Given the description of an element on the screen output the (x, y) to click on. 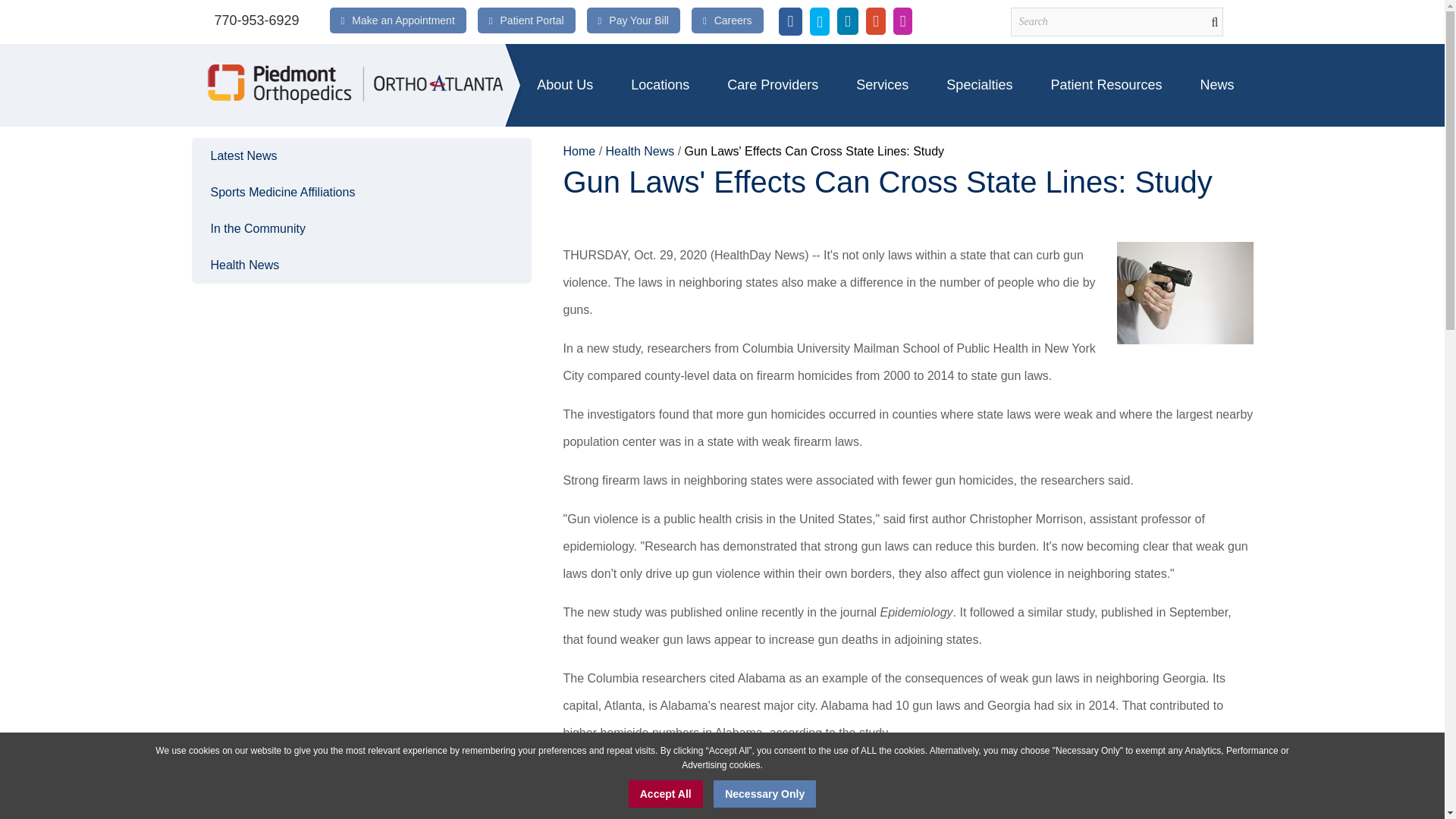
Search (1116, 21)
Patient Portal (532, 19)
Pay Your Bill (638, 19)
About Us (564, 85)
Careers (733, 19)
770-953-6929 (256, 20)
Search (1116, 21)
Make an Appointment (403, 19)
Locations (659, 85)
